Given the description of an element on the screen output the (x, y) to click on. 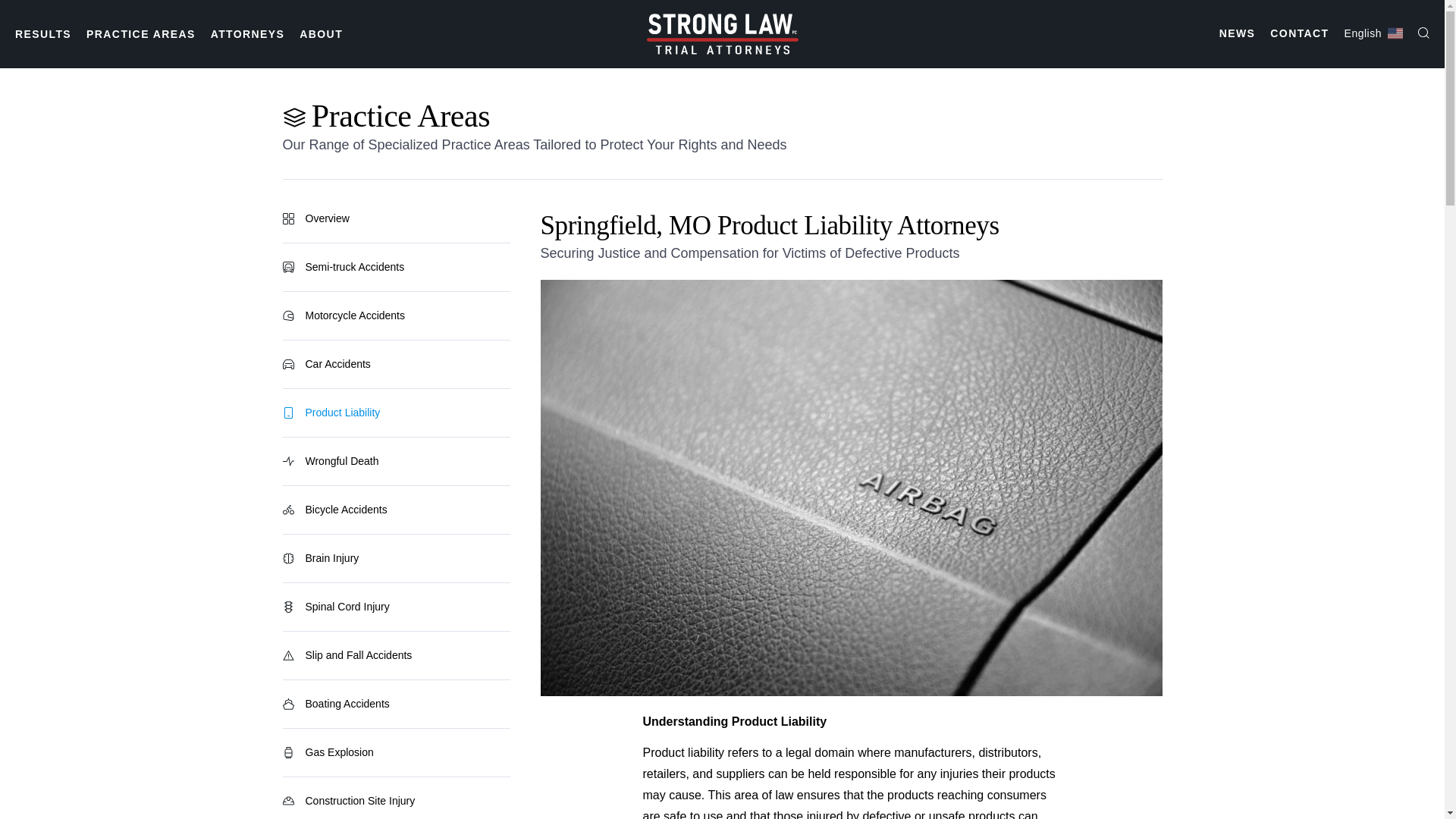
CONTACT (1298, 33)
PRACTICE AREAS (140, 33)
ABOUT (320, 33)
ATTORNEYS (248, 33)
English (1373, 32)
NEWS (1237, 33)
RESULTS (42, 33)
